Given the description of an element on the screen output the (x, y) to click on. 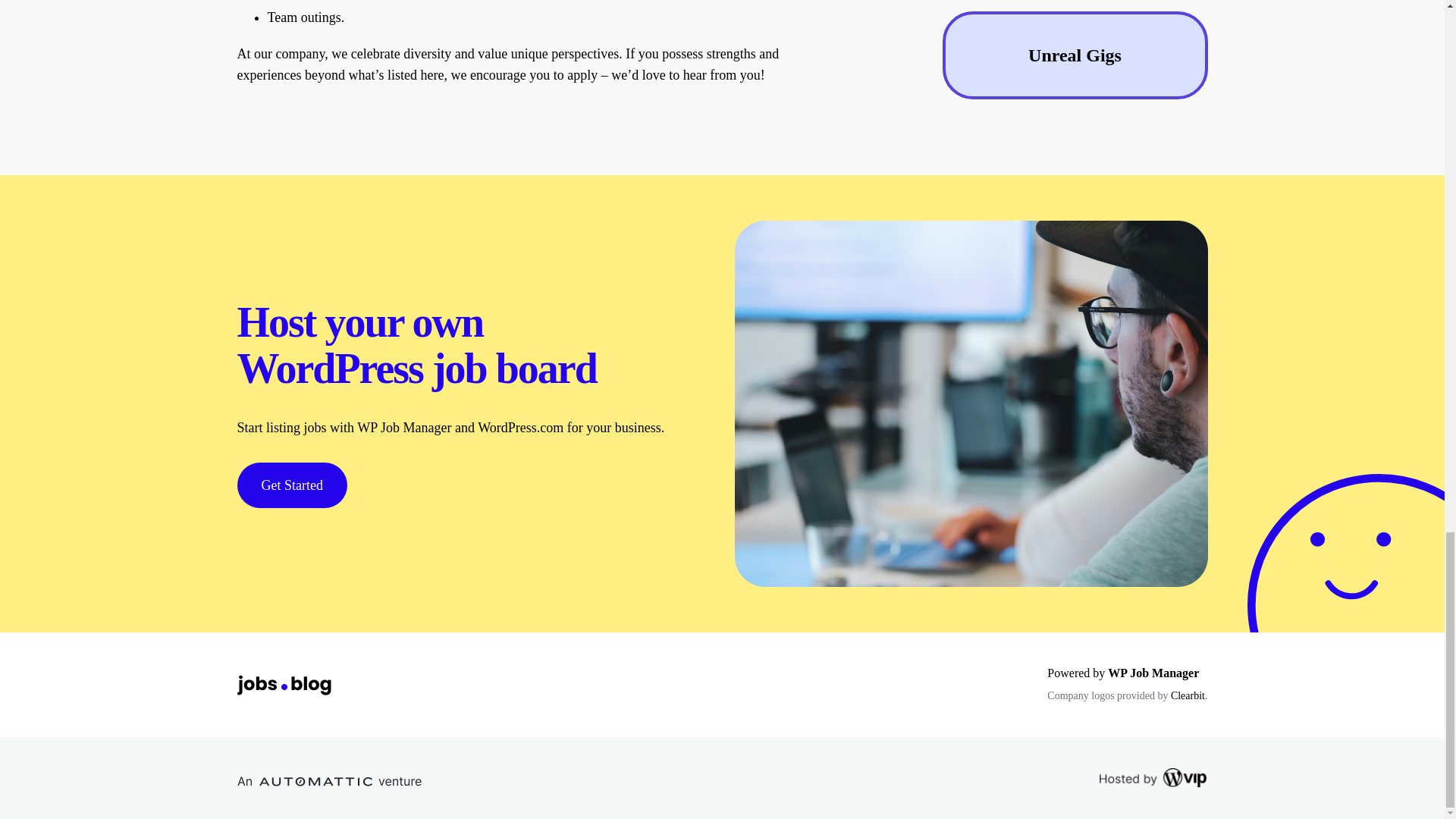
Get Started (290, 484)
Clearbit (1187, 695)
WP Job Manager (1153, 672)
